Given the description of an element on the screen output the (x, y) to click on. 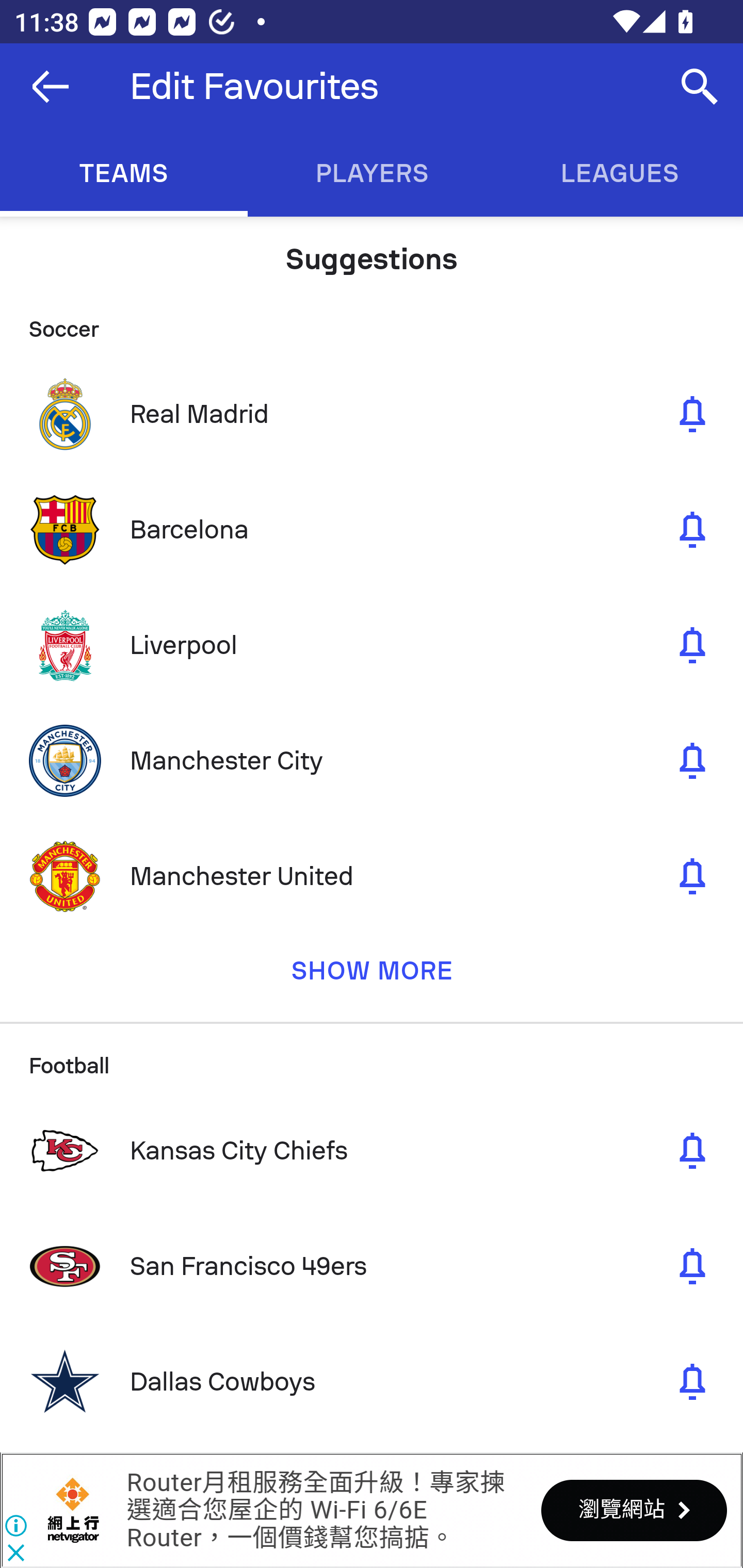
Navigate up (50, 86)
Search (699, 86)
Players PLAYERS (371, 173)
Leagues LEAGUES (619, 173)
Suggestions (371, 251)
Soccer (371, 320)
Real Madrid (371, 413)
Barcelona (371, 529)
Liverpool (371, 645)
Manchester City (371, 760)
Manchester United (371, 876)
SHOW MORE (371, 978)
Football (371, 1057)
Kansas City Chiefs (371, 1150)
San Francisco 49ers (371, 1265)
Dallas Cowboys (371, 1381)
網上行 Netvigator (73, 1510)
瀏覽網站 (634, 1509)
